Given the description of an element on the screen output the (x, y) to click on. 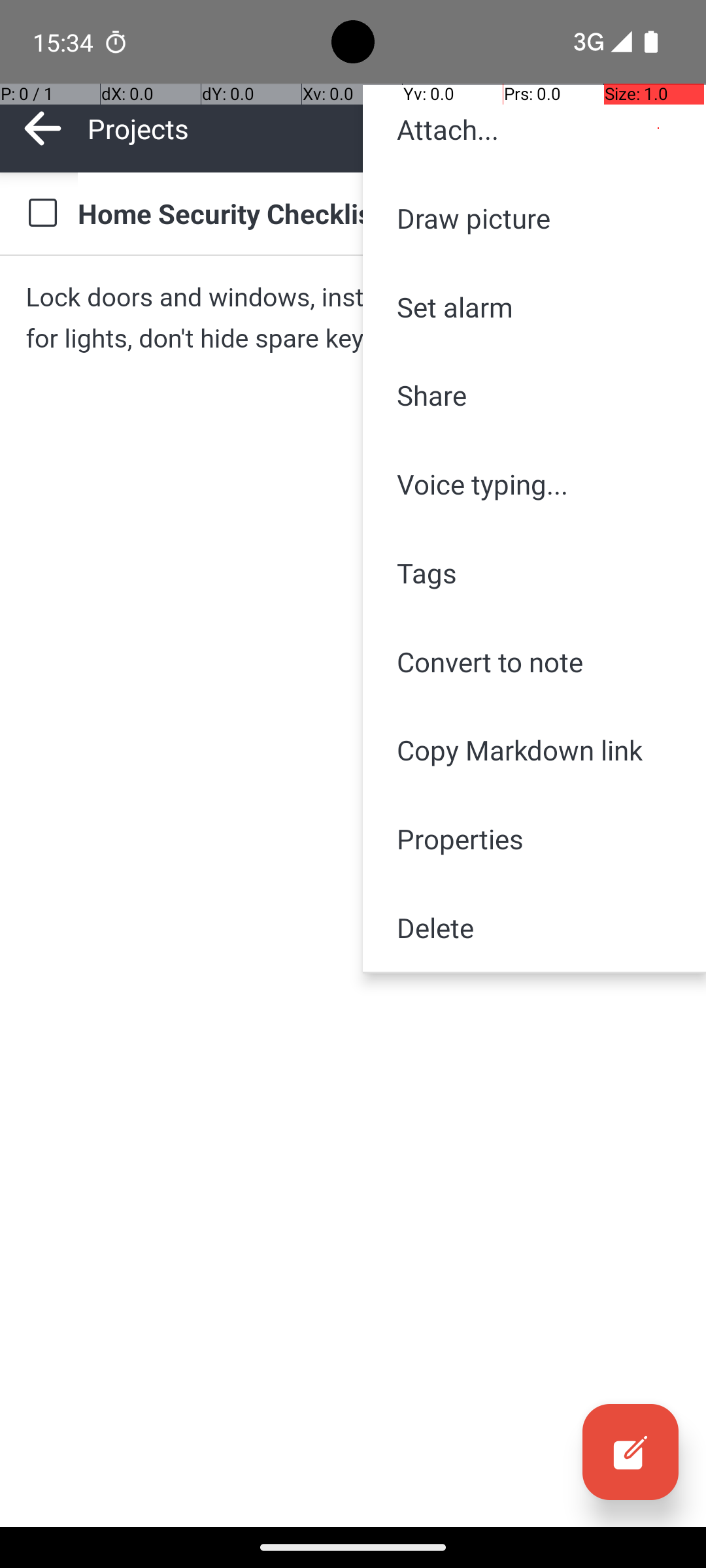
Home Security Checklist Element type: android.widget.EditText (378, 213)
Lock doors and windows, install alarm system, set timers for lights, don't hide spare keys outside. Element type: android.widget.TextView (352, 317)
